Given the description of an element on the screen output the (x, y) to click on. 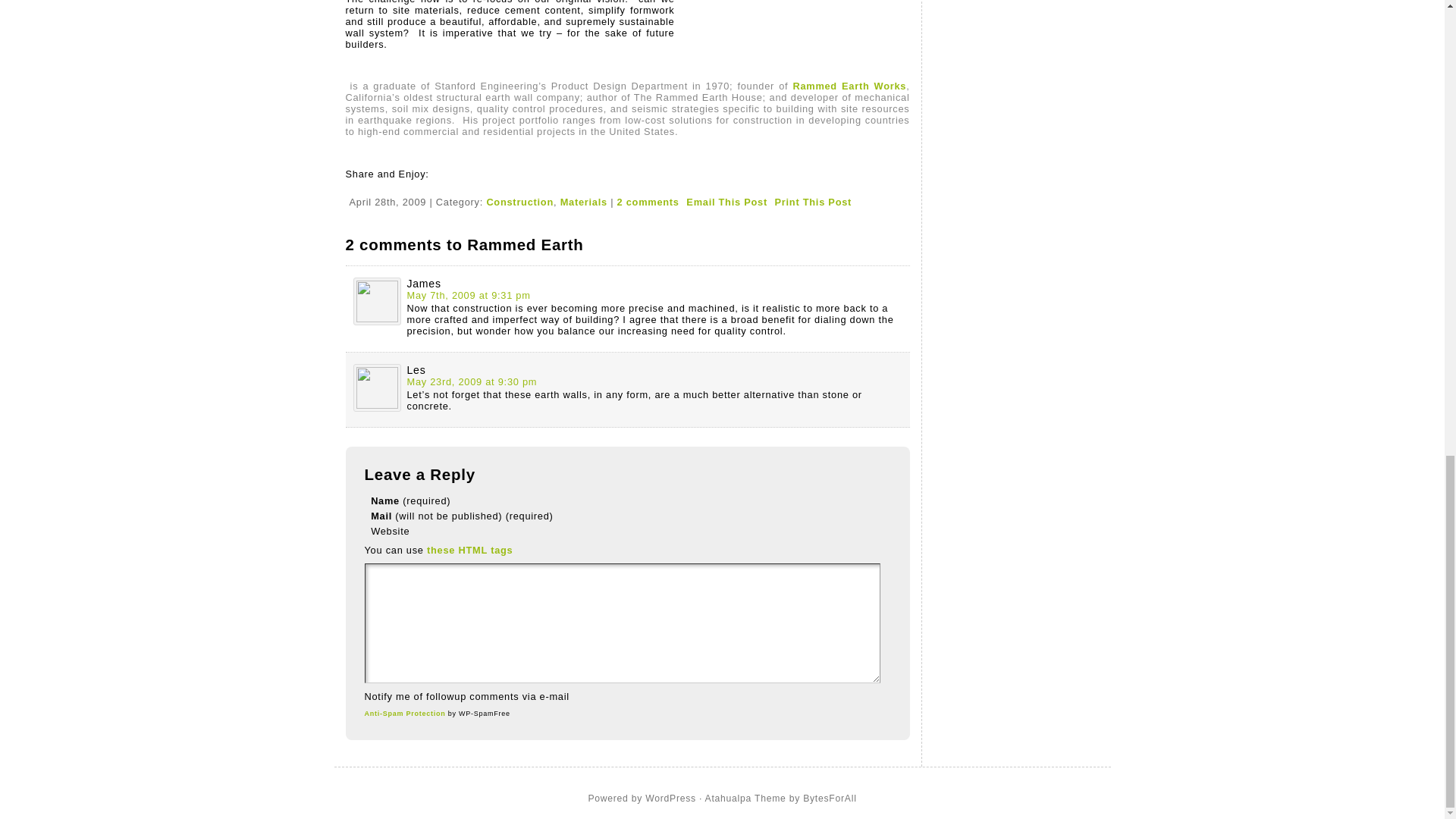
Anti-Spam Protection (404, 713)
2 comments (648, 202)
these HTML tags (469, 550)
Digg (372, 185)
Reddit (388, 185)
Construction (519, 202)
May 23rd, 2009 at 9:30 pm (471, 381)
Materials (583, 202)
Google Bookmarks (353, 185)
Digg (372, 185)
May 7th, 2009 at 9:31 pm (467, 295)
Google Bookmarks (353, 185)
Reddit (388, 185)
